Given the description of an element on the screen output the (x, y) to click on. 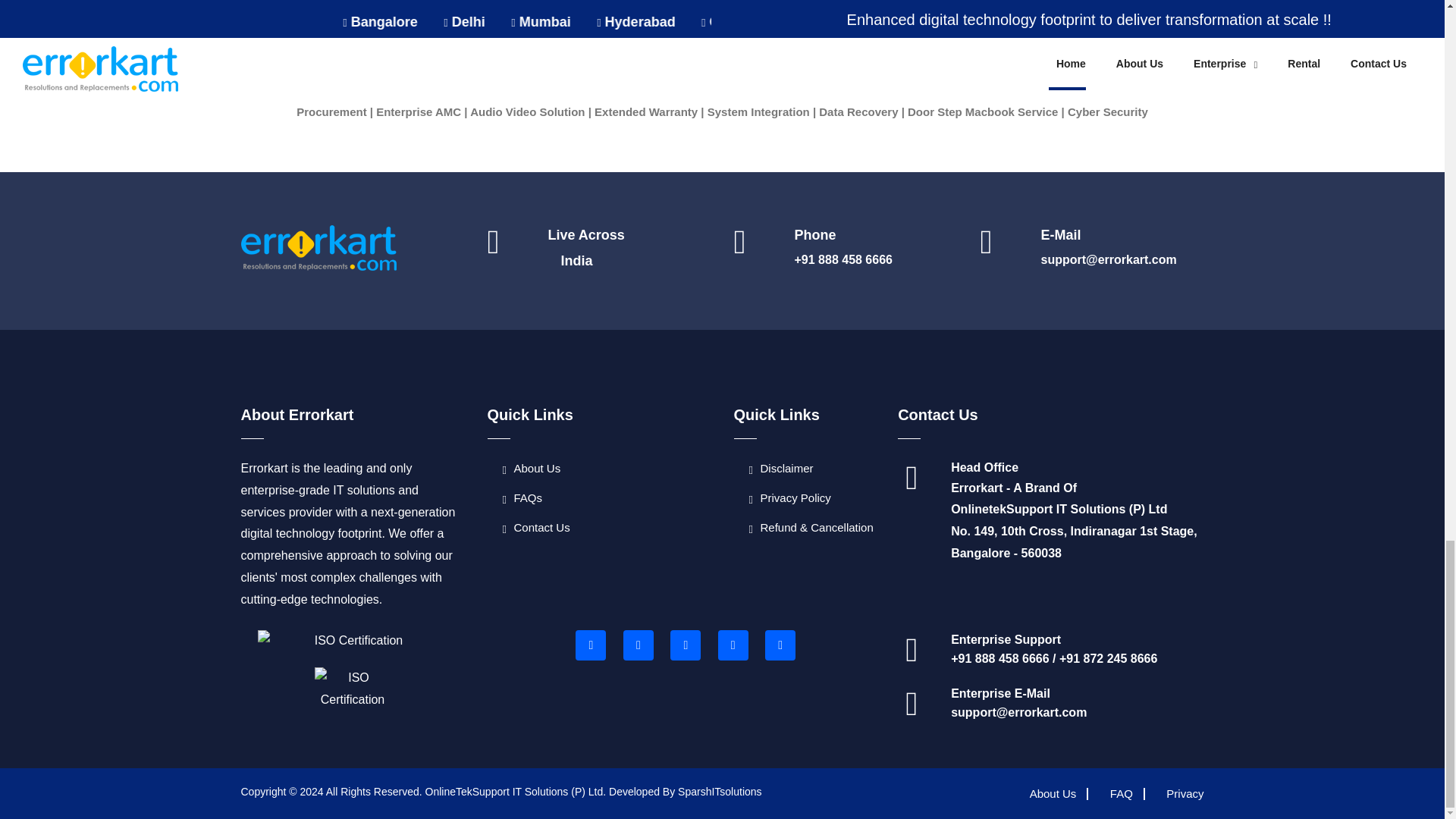
About Us (531, 468)
Disclaimer (781, 468)
Contact Us (535, 526)
Privacy Policy (790, 497)
FAQs (521, 497)
